Given the description of an element on the screen output the (x, y) to click on. 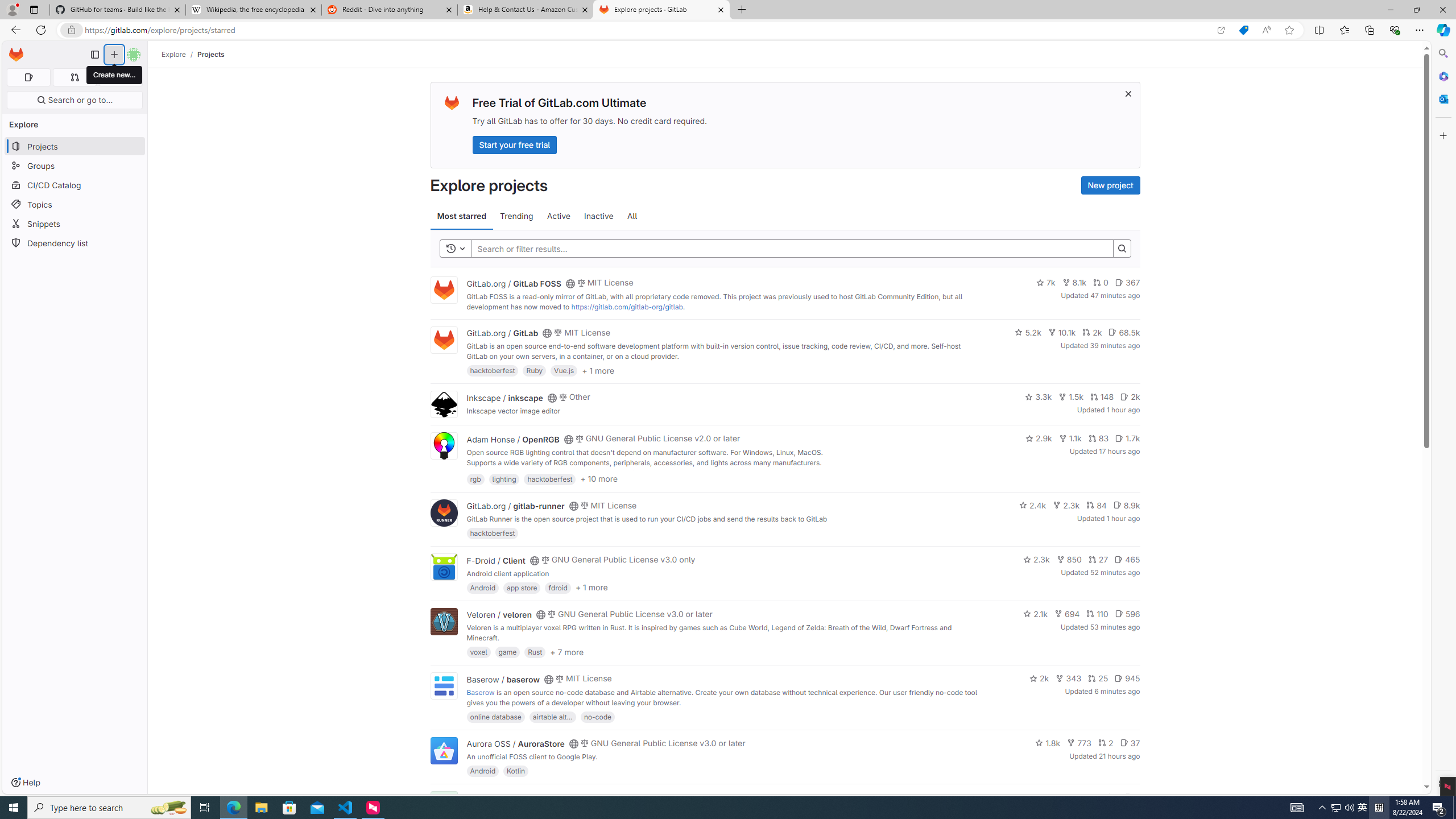
Explore (173, 53)
Most starred (461, 216)
Merge requests 0 (74, 76)
+ 10 more (599, 478)
83 (1098, 438)
Primary navigation sidebar (94, 54)
CI/CD Catalog (74, 185)
Inactive (598, 216)
https://openrgb.org (563, 472)
Active (559, 216)
app store (521, 587)
